Given the description of an element on the screen output the (x, y) to click on. 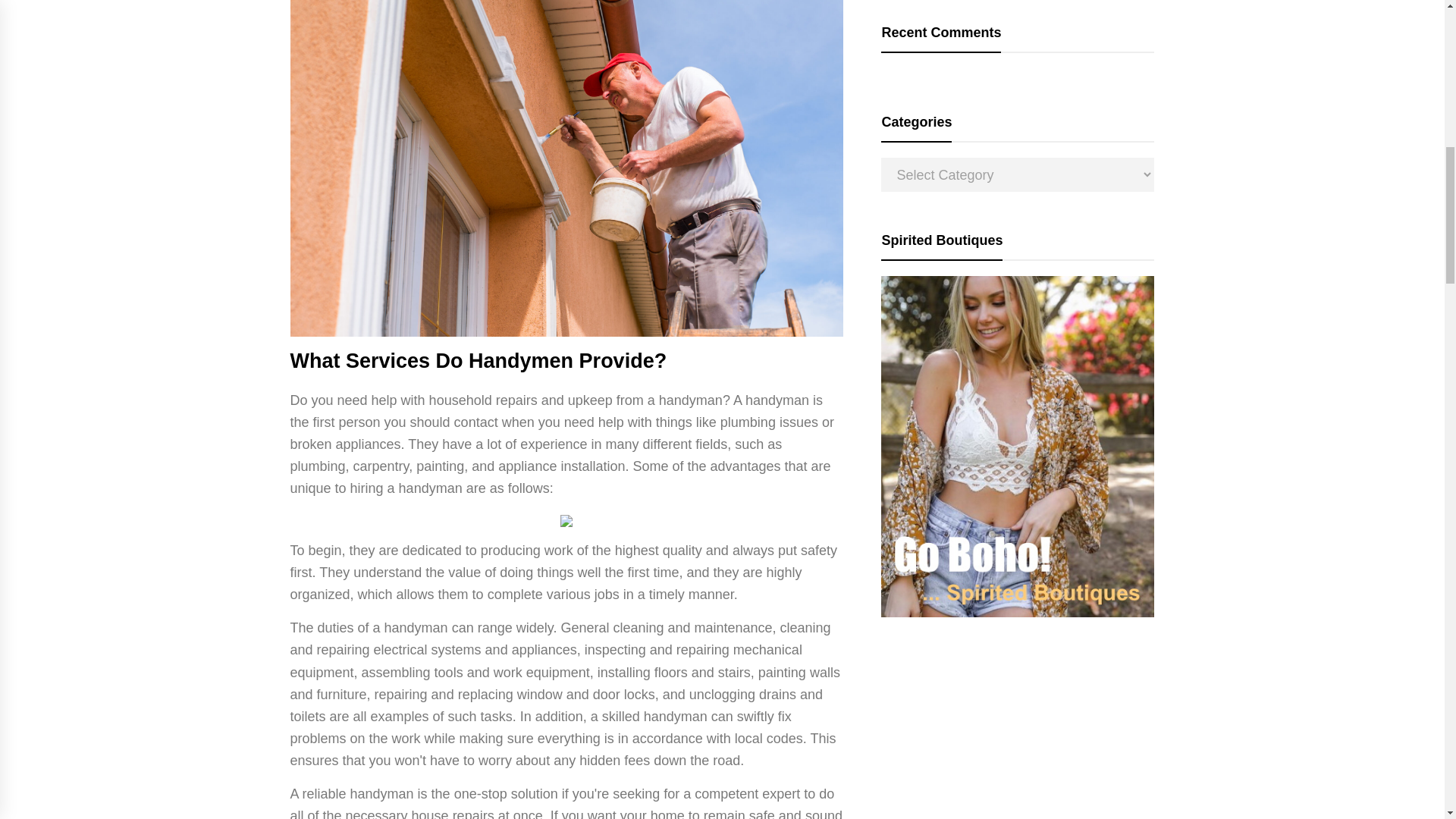
Spirited Boutiques (1017, 612)
